Given the description of an element on the screen output the (x, y) to click on. 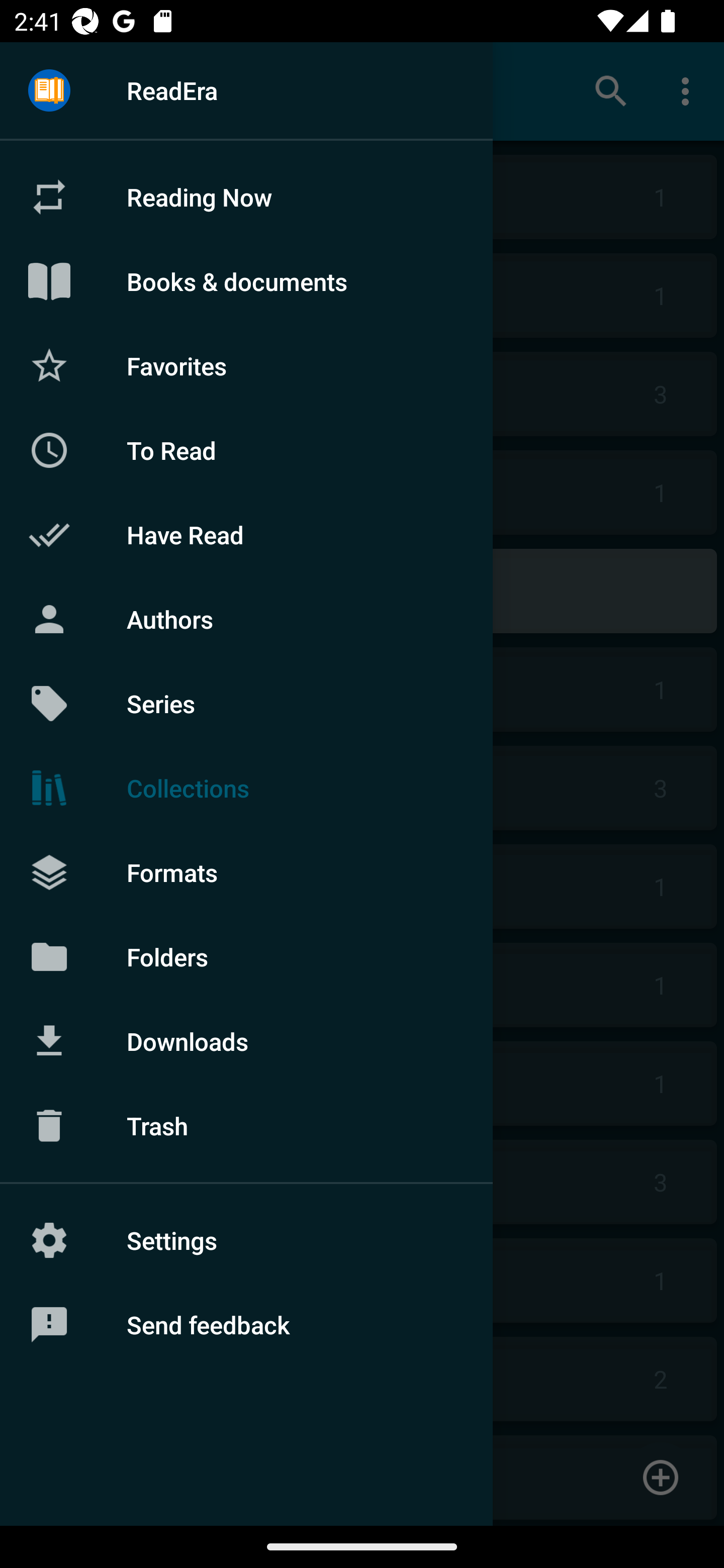
Menu (49, 91)
ReadEra (246, 89)
Search books & documents (611, 90)
More options (688, 90)
Reading Now (246, 197)
Books & documents (246, 281)
Favorites (246, 365)
To Read (246, 449)
Have Read (246, 534)
Authors (246, 619)
Series (246, 703)
Collections (246, 787)
Formats (246, 871)
Folders (246, 956)
Downloads (246, 1040)
Trash (246, 1125)
Settings (246, 1239)
Send feedback (246, 1324)
